Given the description of an element on the screen output the (x, y) to click on. 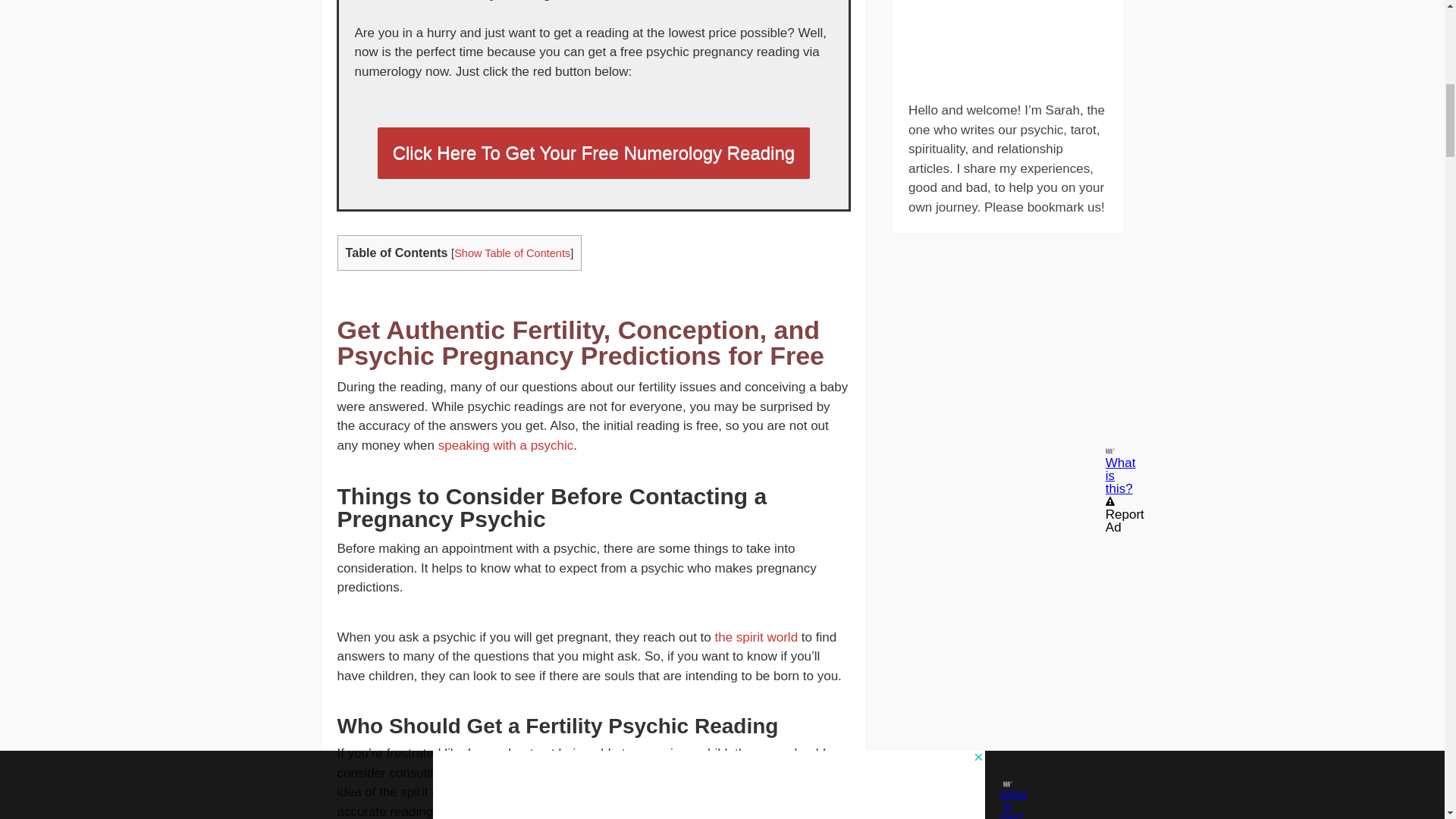
3rd party ad content (1007, 348)
